Given the description of an element on the screen output the (x, y) to click on. 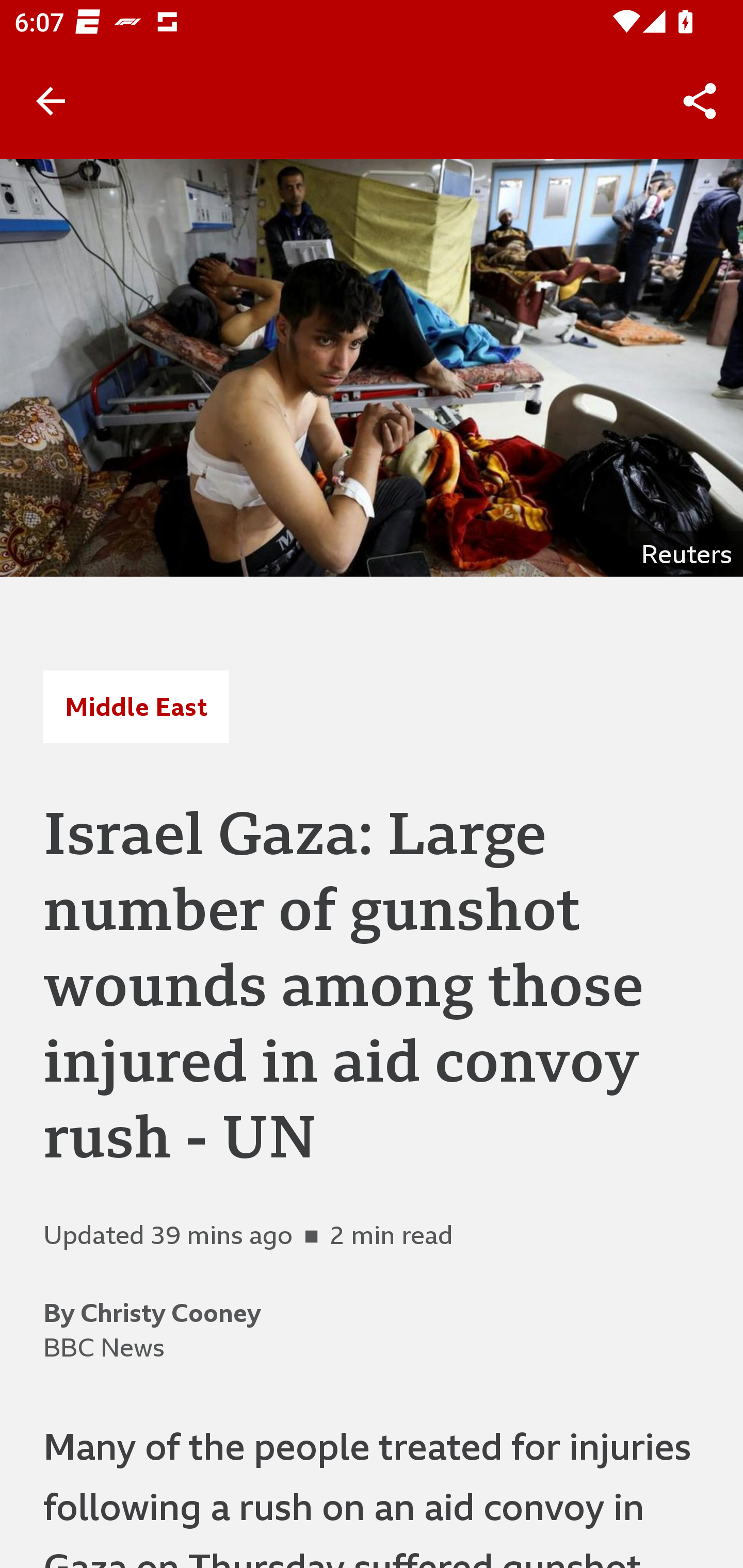
Back (50, 101)
Share (699, 101)
Middle East (135, 706)
